Given the description of an element on the screen output the (x, y) to click on. 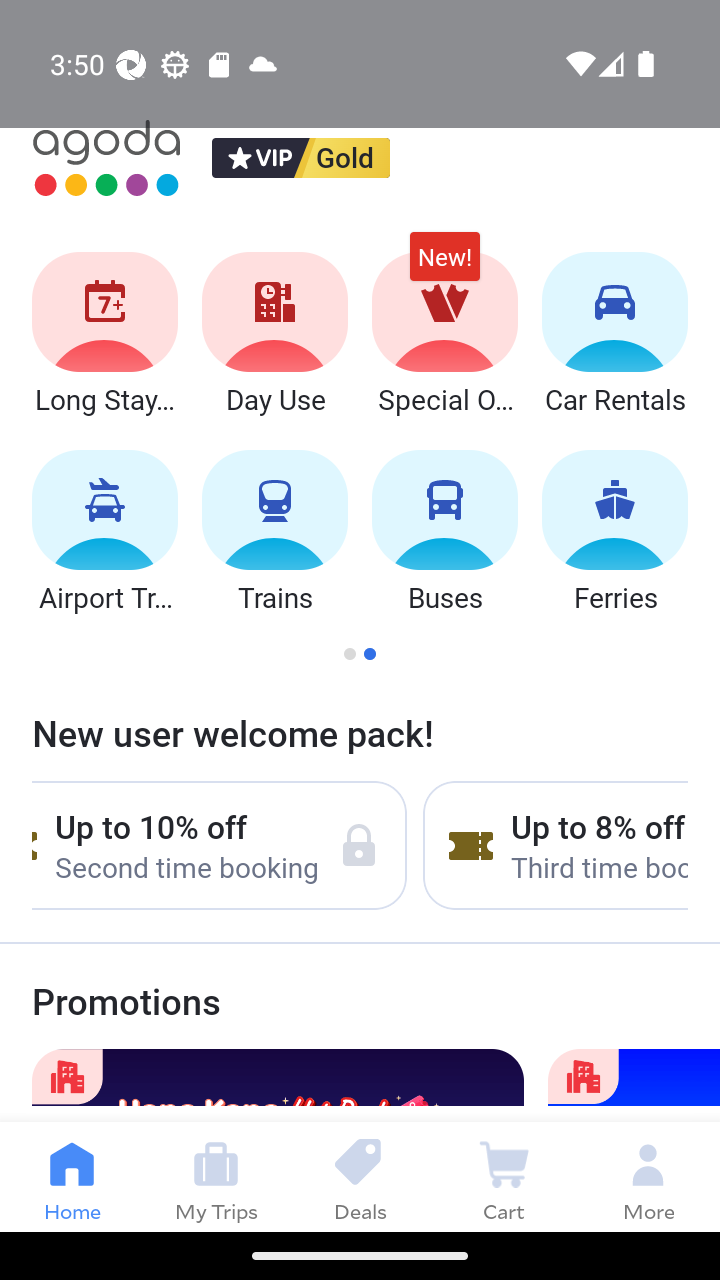
New! (444, 265)
Home (72, 1176)
My Trips (216, 1176)
Deals (360, 1176)
Cart (504, 1176)
More (648, 1176)
